Given the description of an element on the screen output the (x, y) to click on. 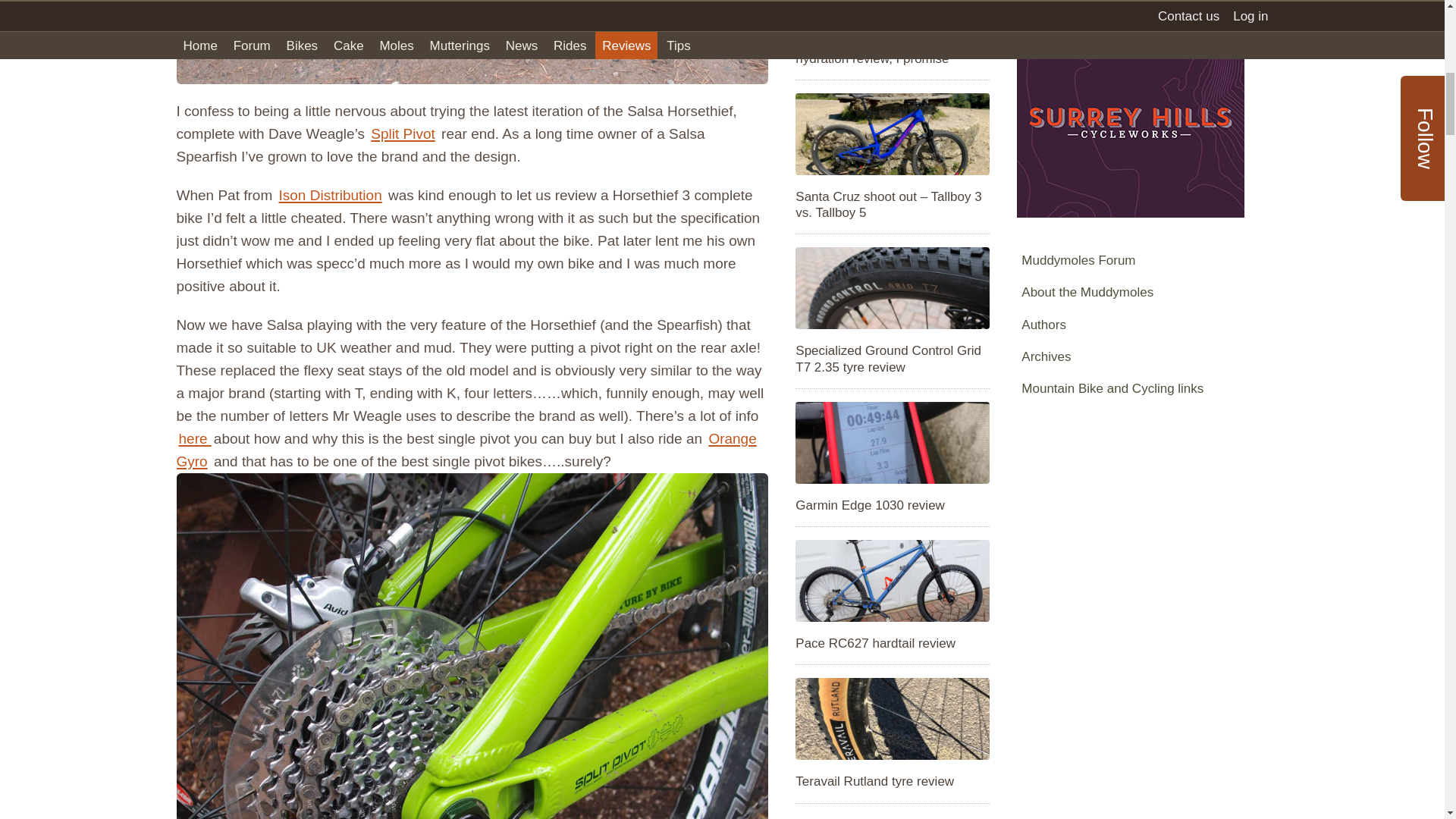
Split Pivot website (194, 438)
Ison Distribution (330, 195)
Split Pivot website (402, 133)
